Given the description of an element on the screen output the (x, y) to click on. 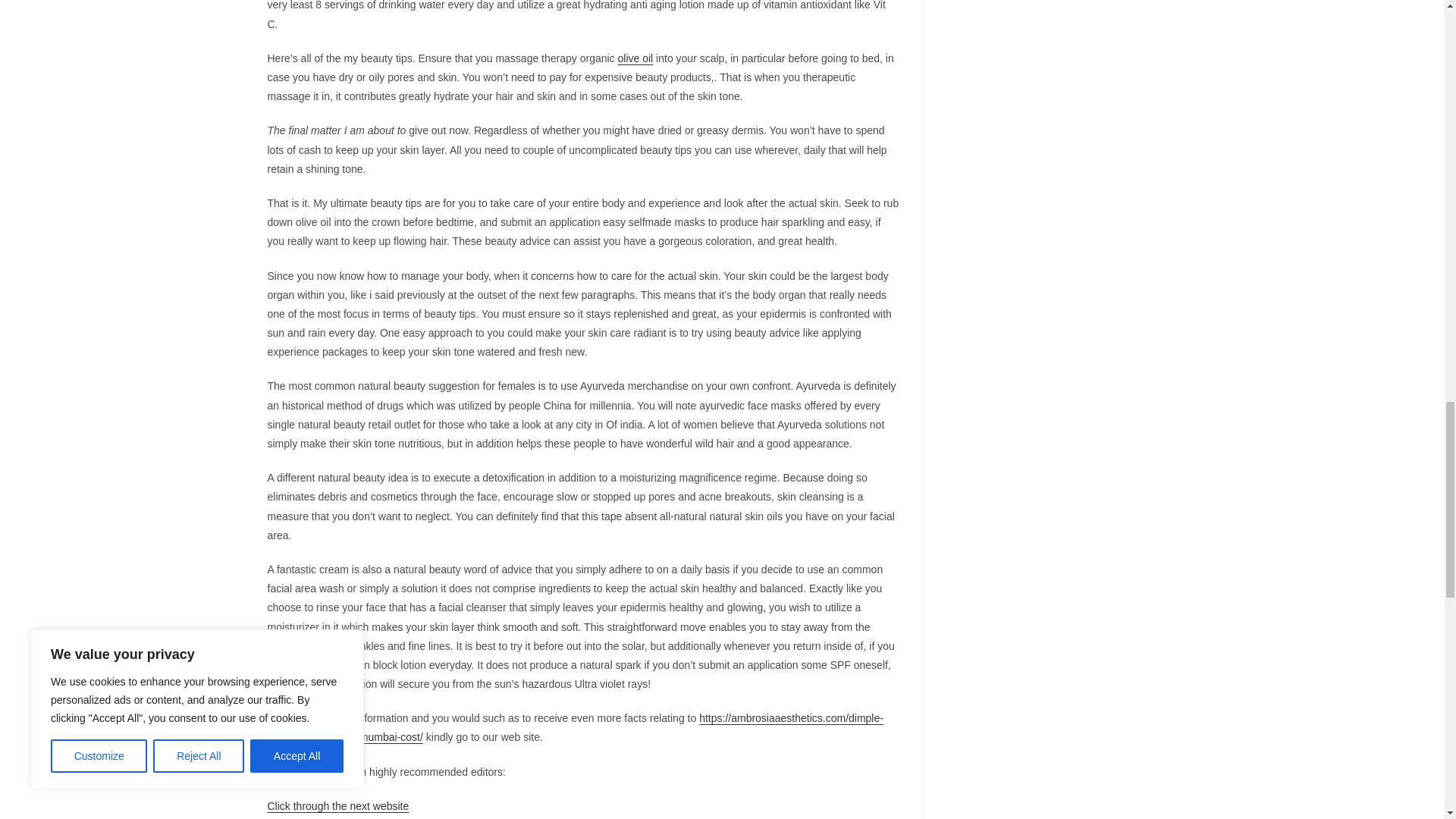
olive oil (634, 58)
Click through the next website (337, 806)
